Given the description of an element on the screen output the (x, y) to click on. 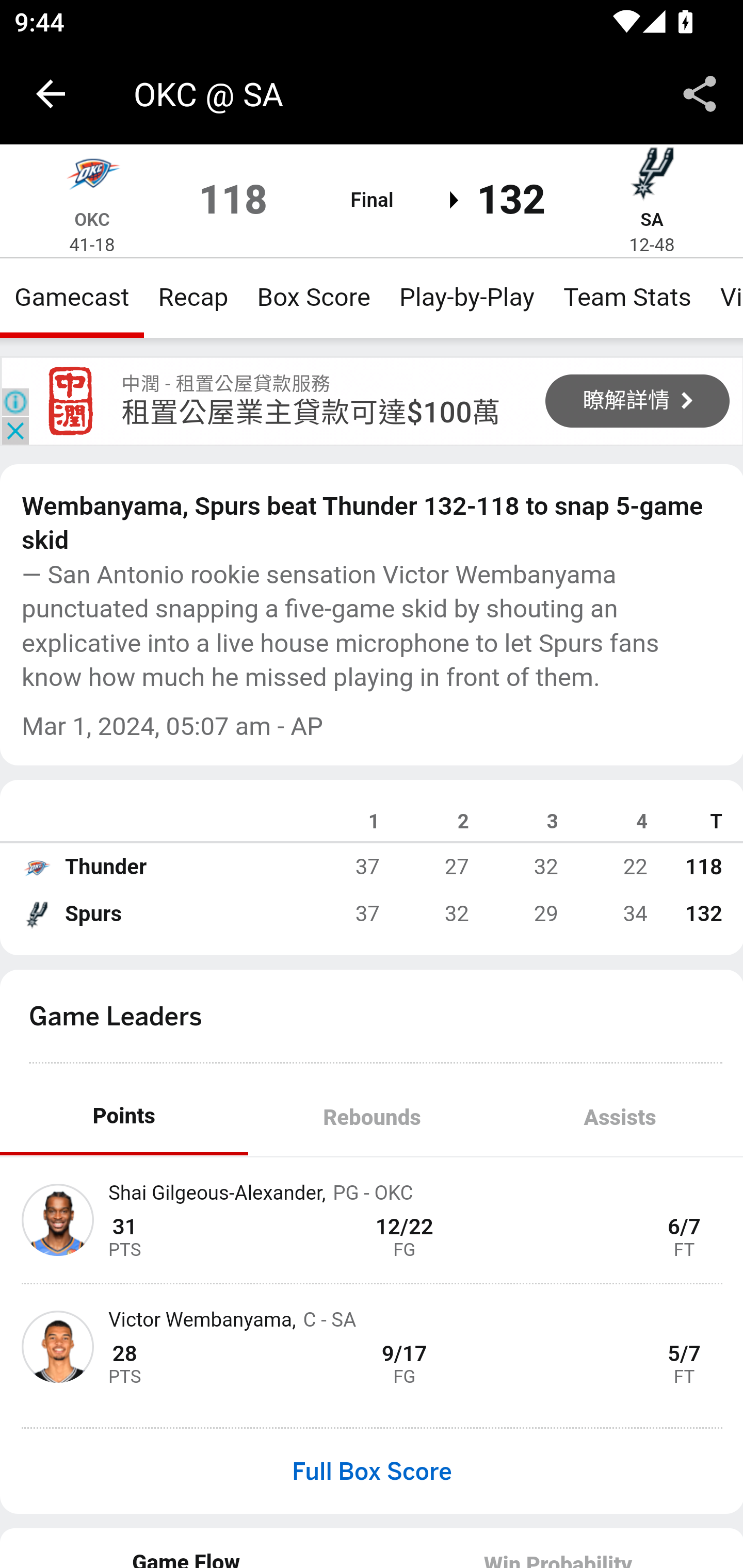
Navigate up (50, 93)
Share (699, 93)
Oklahoma City Thunder (91, 177)
San Antonio Spurs (651, 177)
OKC (91, 219)
SA (651, 219)
Gamecast (72, 296)
Recap (192, 296)
Box Score (314, 296)
Play-by-Play (466, 296)
Team Stats (627, 296)
中潤 - 租置公屋貸款服務 (71, 401)
中潤 - 租置公屋貸款服務 (226, 383)
瞭解詳情 (638, 400)
租置公屋業主貸款可達$100萬 (311, 412)
Oklahoma City Thunder (36, 866)
San Antonio Spurs (36, 913)
Points (124, 1116)
Rebounds (371, 1116)
Assists (618, 1116)
Full Box Score (371, 1471)
Game Flow (186, 1547)
Win Probability (557, 1547)
